Given the description of an element on the screen output the (x, y) to click on. 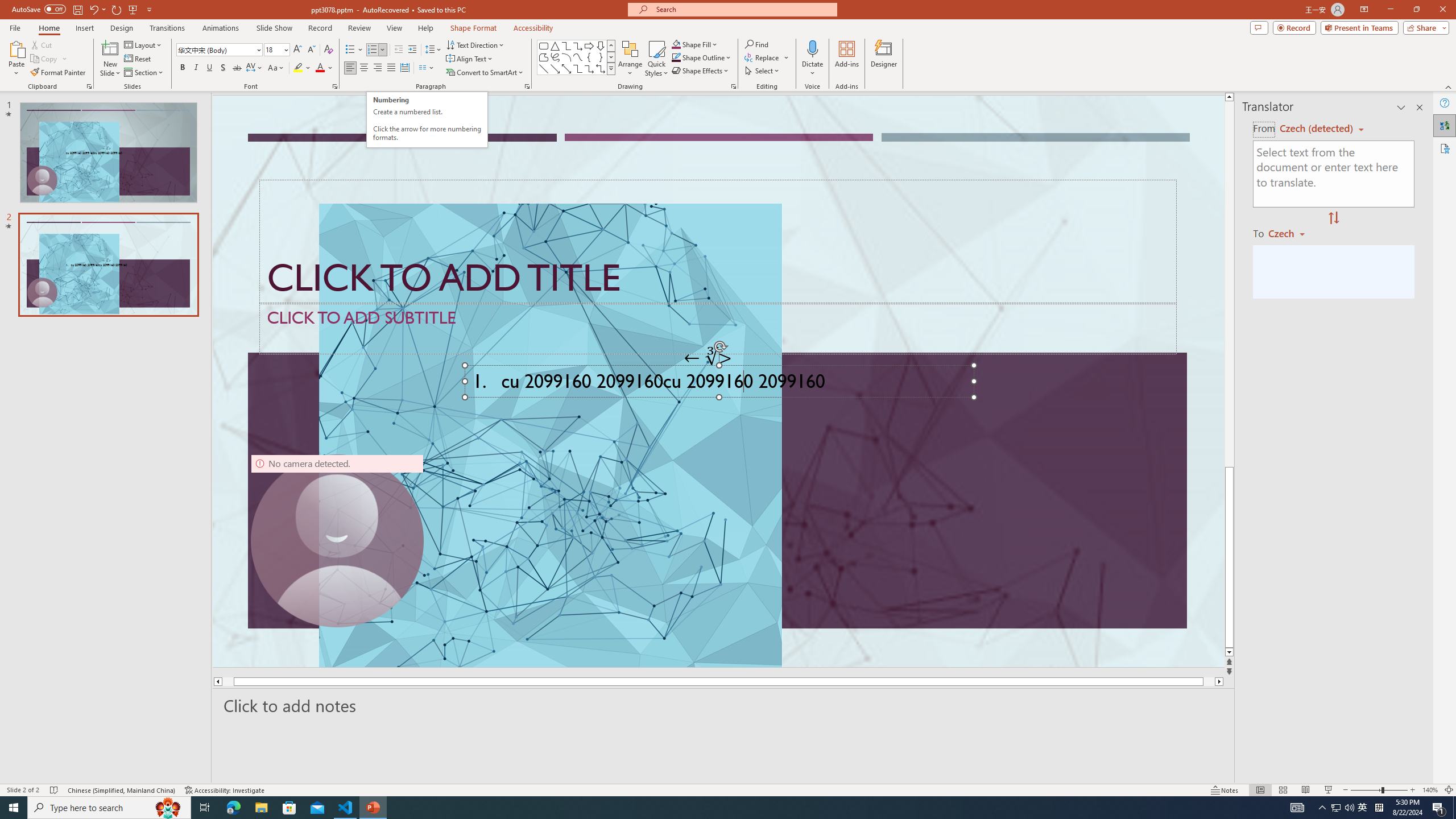
Line Arrow: Double (566, 68)
Translator (1444, 125)
Italic (195, 67)
Decrease Indent (398, 49)
Format Painter (58, 72)
Camera 9, No camera detected. (336, 540)
Zoom 140% (1430, 790)
